Given the description of an element on the screen output the (x, y) to click on. 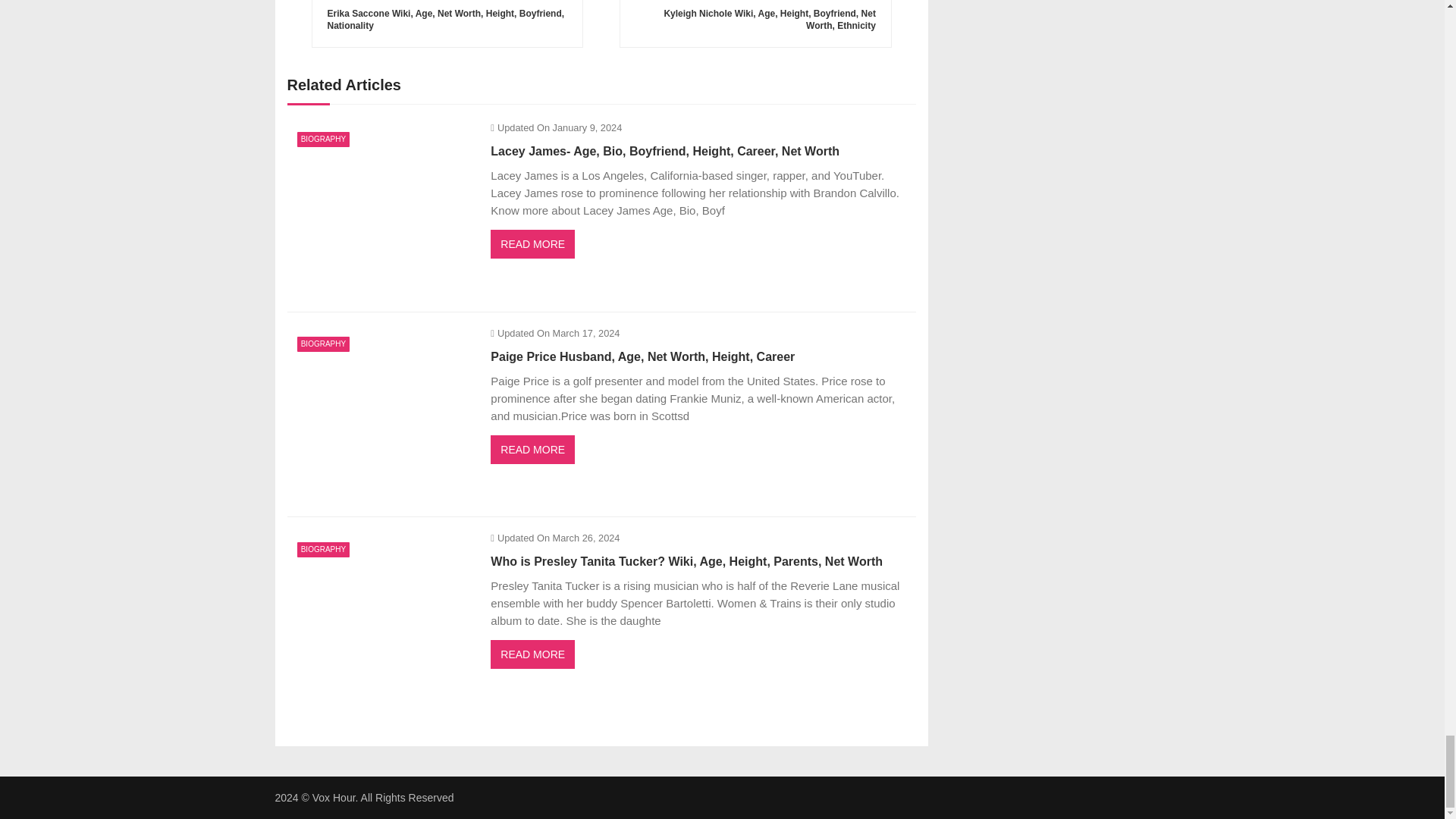
Lacey James- Age, Bio, Boyfriend, Height, Career, Net Worth (381, 209)
Paige Price Husband, Age, Net Worth, Height, Career (381, 414)
